Given the description of an element on the screen output the (x, y) to click on. 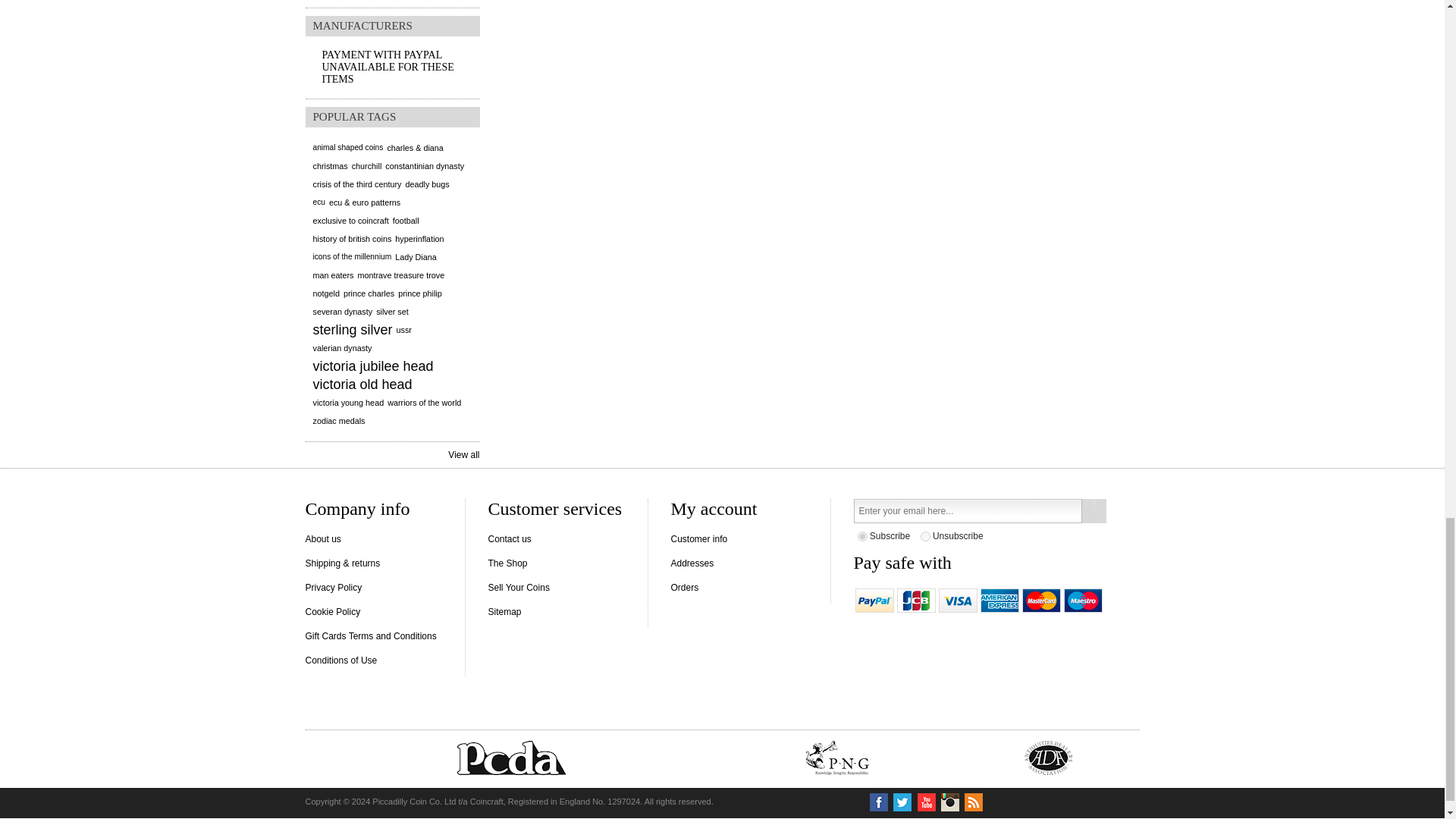
Send (1093, 510)
